Given the description of an element on the screen output the (x, y) to click on. 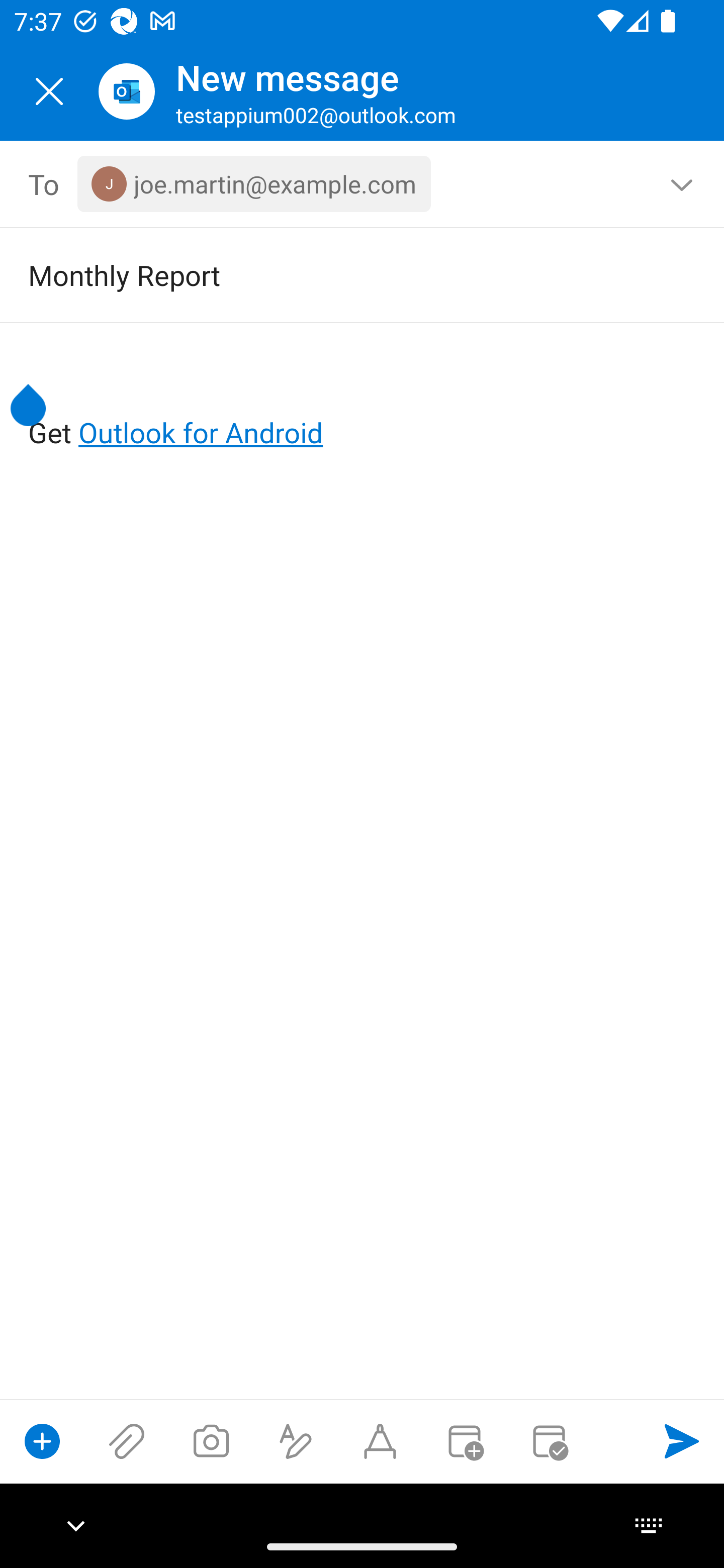
Close (49, 91)
To, 1 recipient <joe.martin@example.com> (362, 184)
Monthly Report (333, 274)


Get Outlook for Android (363, 400)
Show compose options (42, 1440)
Attach files (126, 1440)
Take a photo (210, 1440)
Show formatting options (295, 1440)
Start Ink compose (380, 1440)
Convert to event (464, 1440)
Send availability (548, 1440)
Send (681, 1440)
